Given the description of an element on the screen output the (x, y) to click on. 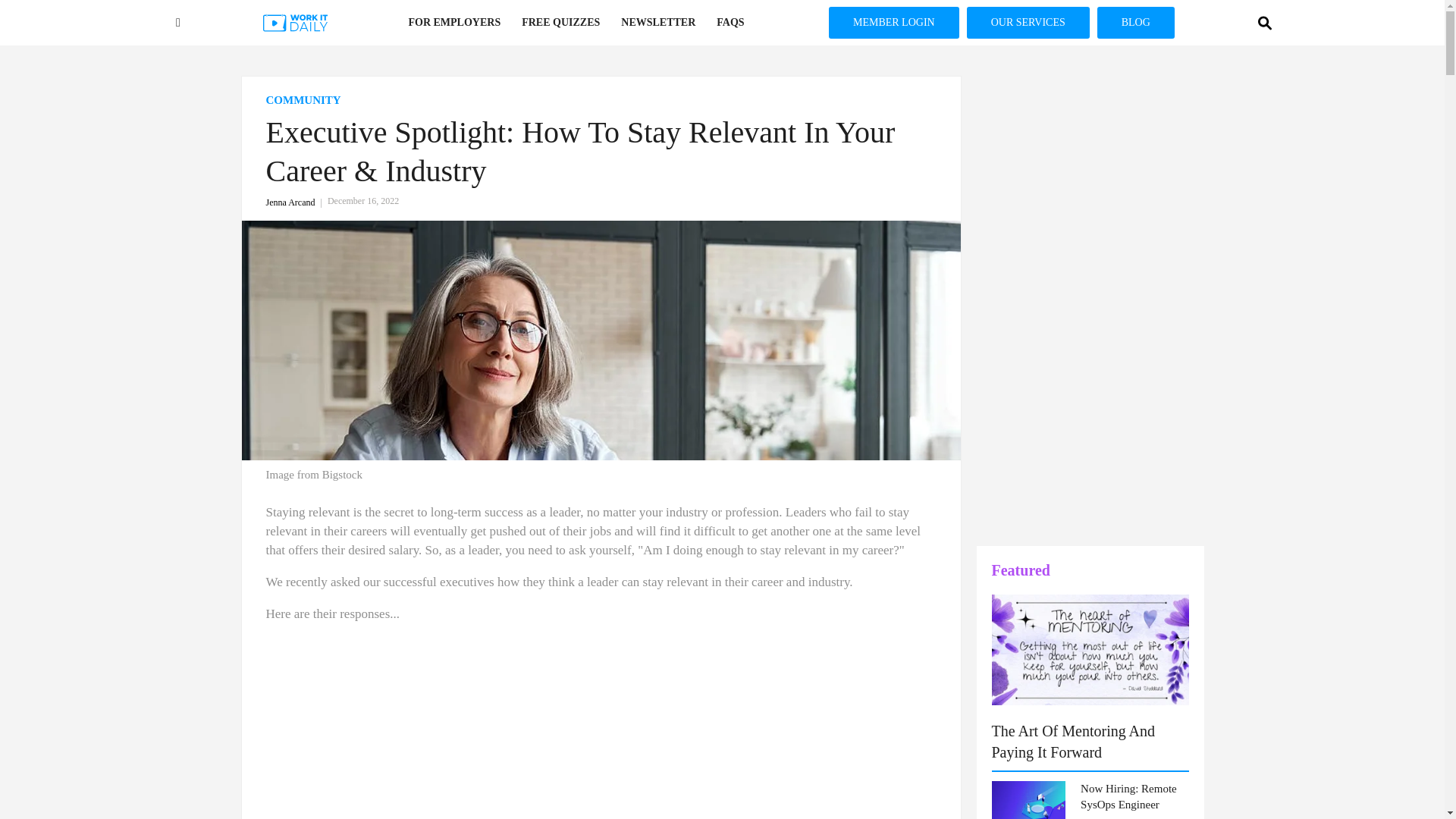
FREE QUIZZES (560, 22)
Jenna Arcand (295, 202)
FAQS (730, 22)
NEWSLETTER (658, 22)
FOR EMPLOYERS (454, 22)
BLOG (1135, 22)
COMMUNITY (600, 99)
OUR SERVICES (1027, 22)
MEMBER LOGIN (893, 22)
